Given the description of an element on the screen output the (x, y) to click on. 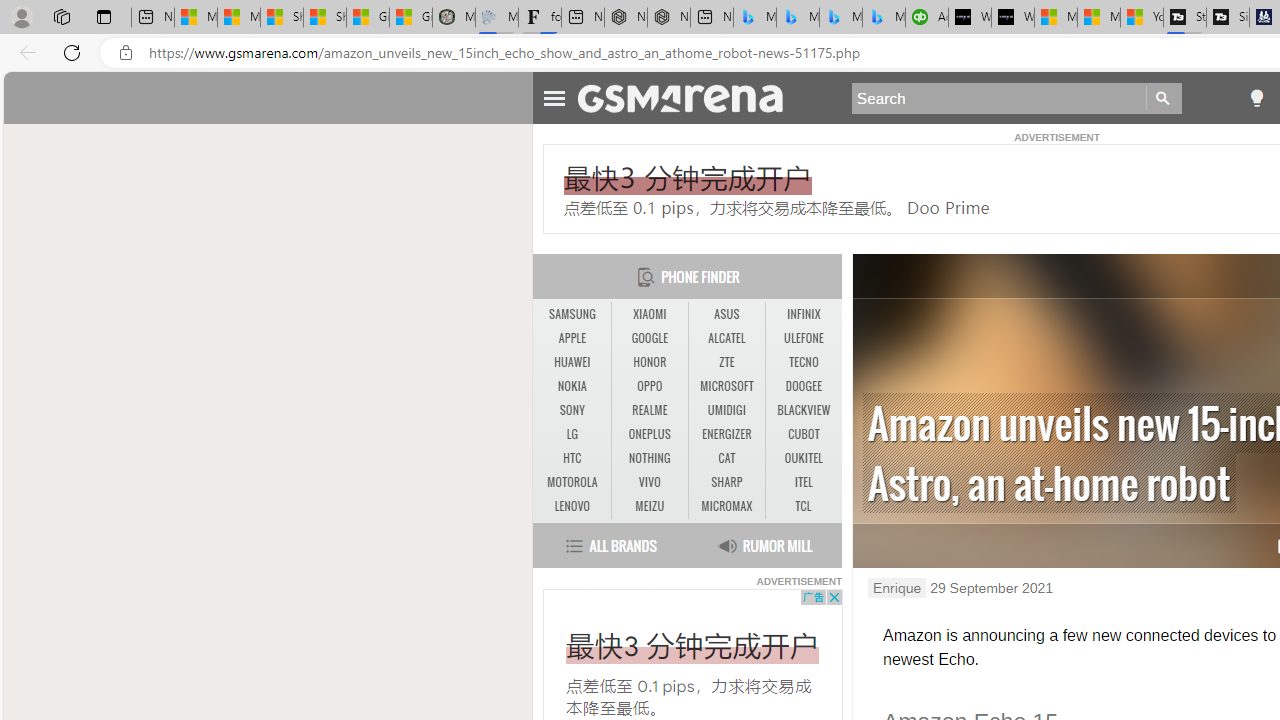
Toggle Navigation (553, 95)
MOTOROLA (571, 483)
Accounting Software for Accountants, CPAs and Bookkeepers (927, 17)
HONOR (649, 362)
GOOGLE (649, 338)
GOOGLE (649, 339)
MICROMAX (726, 506)
OPPO (649, 385)
ALCATEL (726, 338)
ENERGIZER (726, 434)
Gilma and Hector both pose tropical trouble for Hawaii (411, 17)
